Given the description of an element on the screen output the (x, y) to click on. 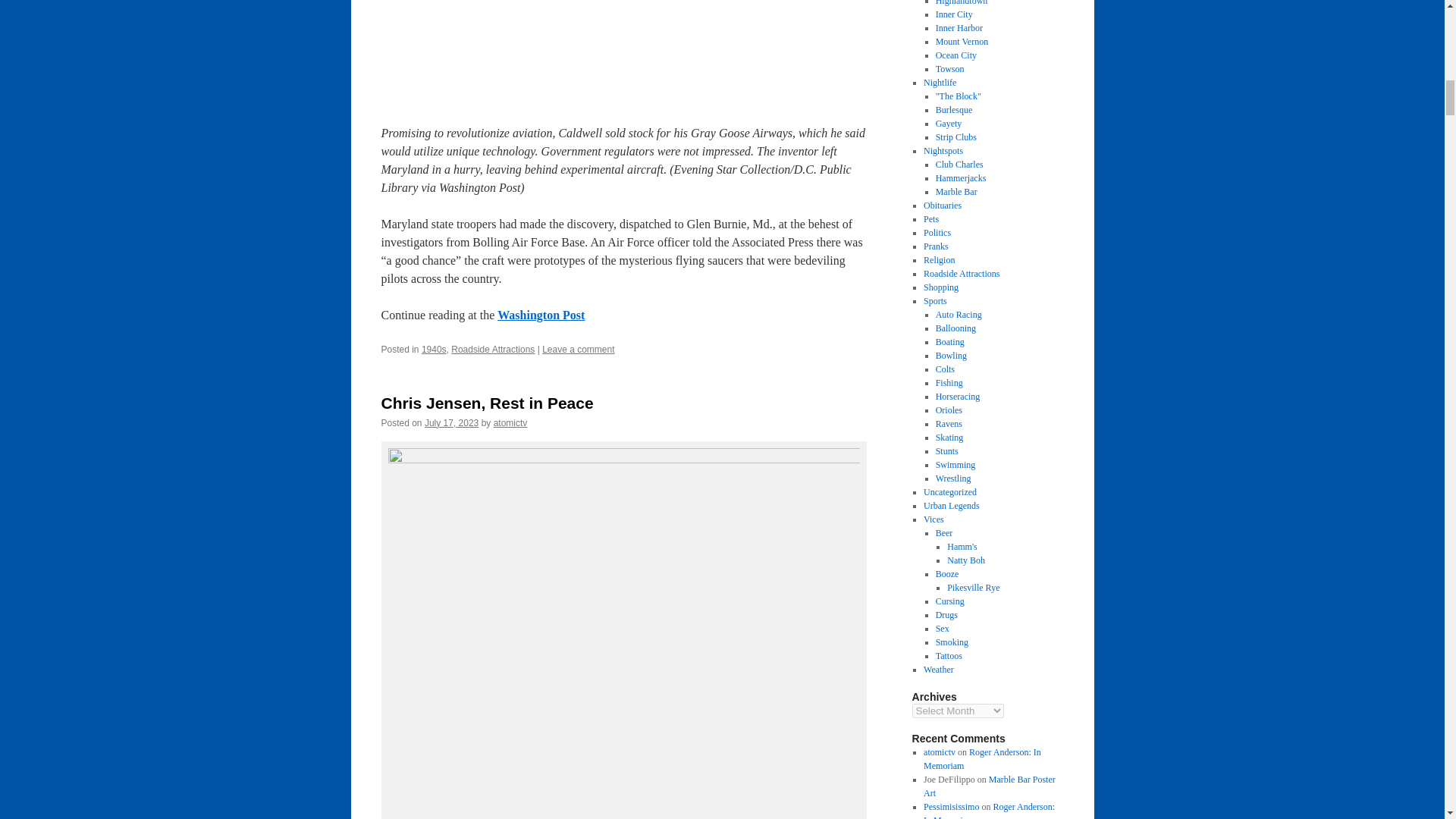
Washington Post (541, 314)
July 17, 2023 (452, 422)
1940s (434, 348)
9:14 am (452, 422)
Roadside Attractions (492, 348)
Leave a comment (577, 348)
atomictv (510, 422)
Chris Jensen, Rest in Peace (486, 402)
View all posts by atomictv (510, 422)
